Given the description of an element on the screen output the (x, y) to click on. 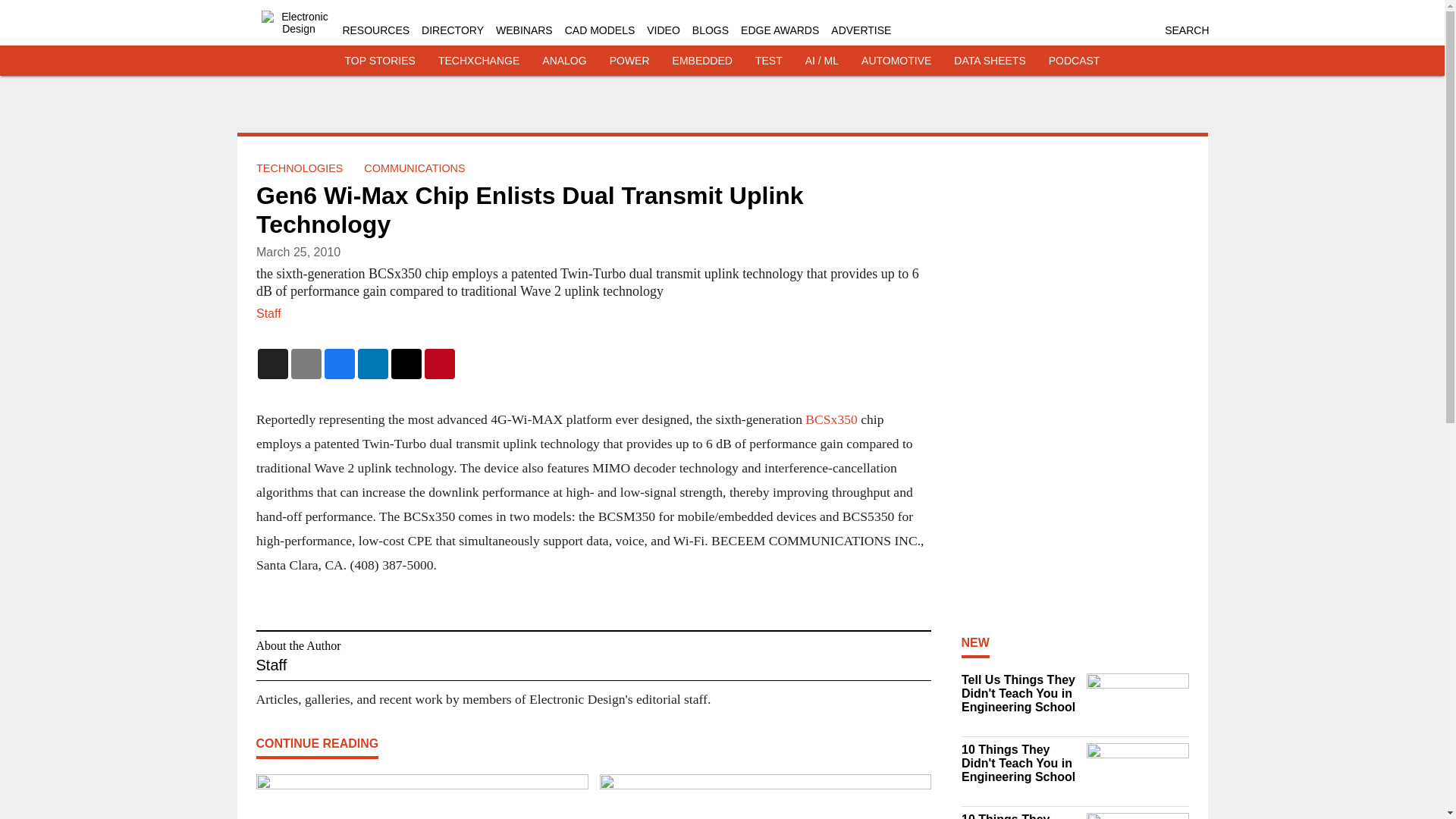
TECHNOLOGIES (299, 168)
PODCAST (1074, 60)
ANALOG (563, 60)
Tell Us Things They Didn't Teach You in Engineering School (1019, 693)
DATA SHEETS (989, 60)
DIRECTORY (452, 30)
BLOGS (711, 30)
TEST (769, 60)
AUTOMOTIVE (896, 60)
ADVERTISE (861, 30)
Staff (268, 313)
TOP STORIES (379, 60)
WEBINARS (524, 30)
BCSx350 (831, 418)
CAD MODELS (599, 30)
